Given the description of an element on the screen output the (x, y) to click on. 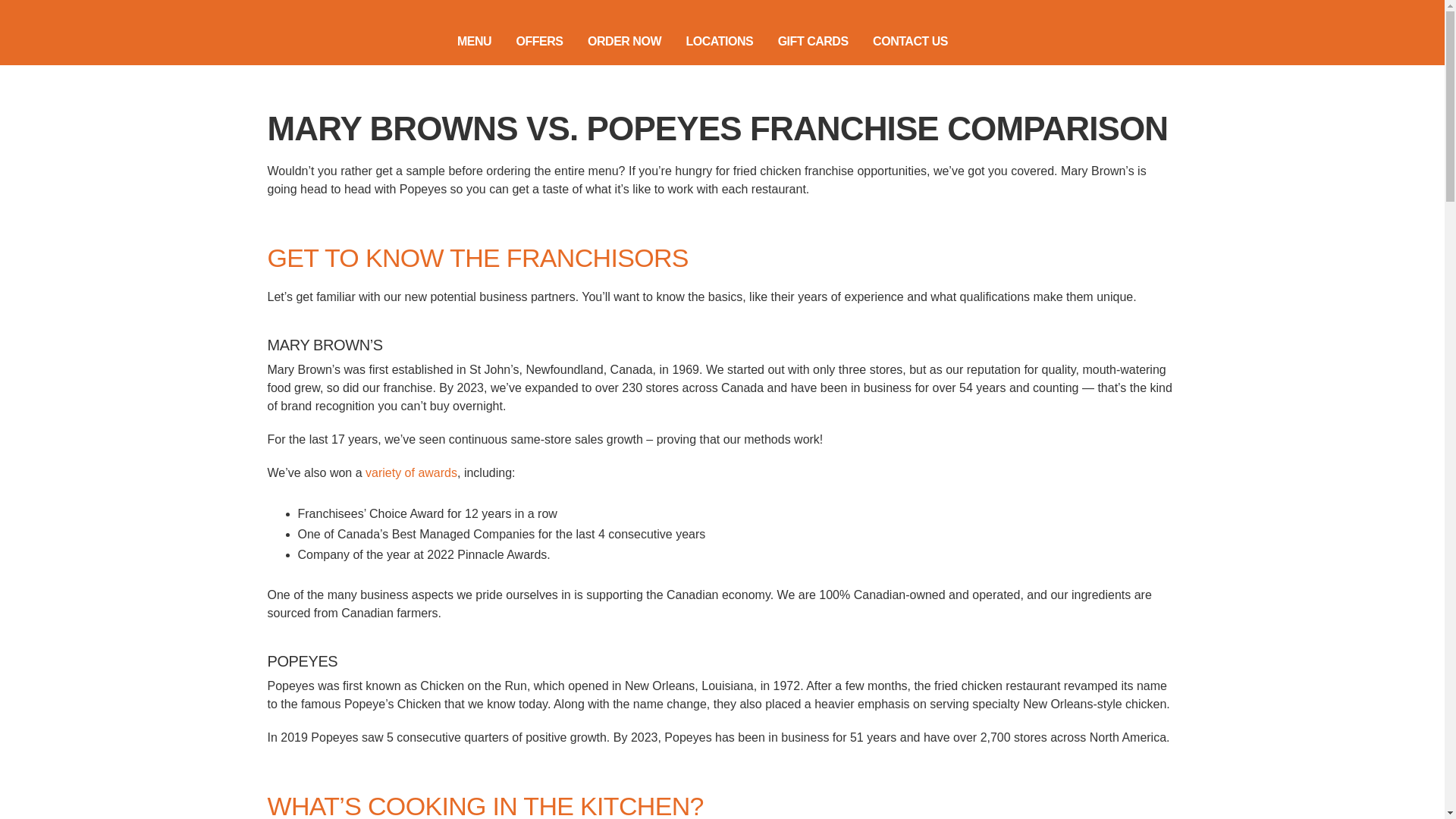
CONTACT US (899, 41)
variety of awards (411, 472)
LOCATIONS (707, 41)
MENU (463, 41)
ORDER NOW (613, 41)
GIFT CARDS (802, 41)
OFFERS (529, 41)
